Given the description of an element on the screen output the (x, y) to click on. 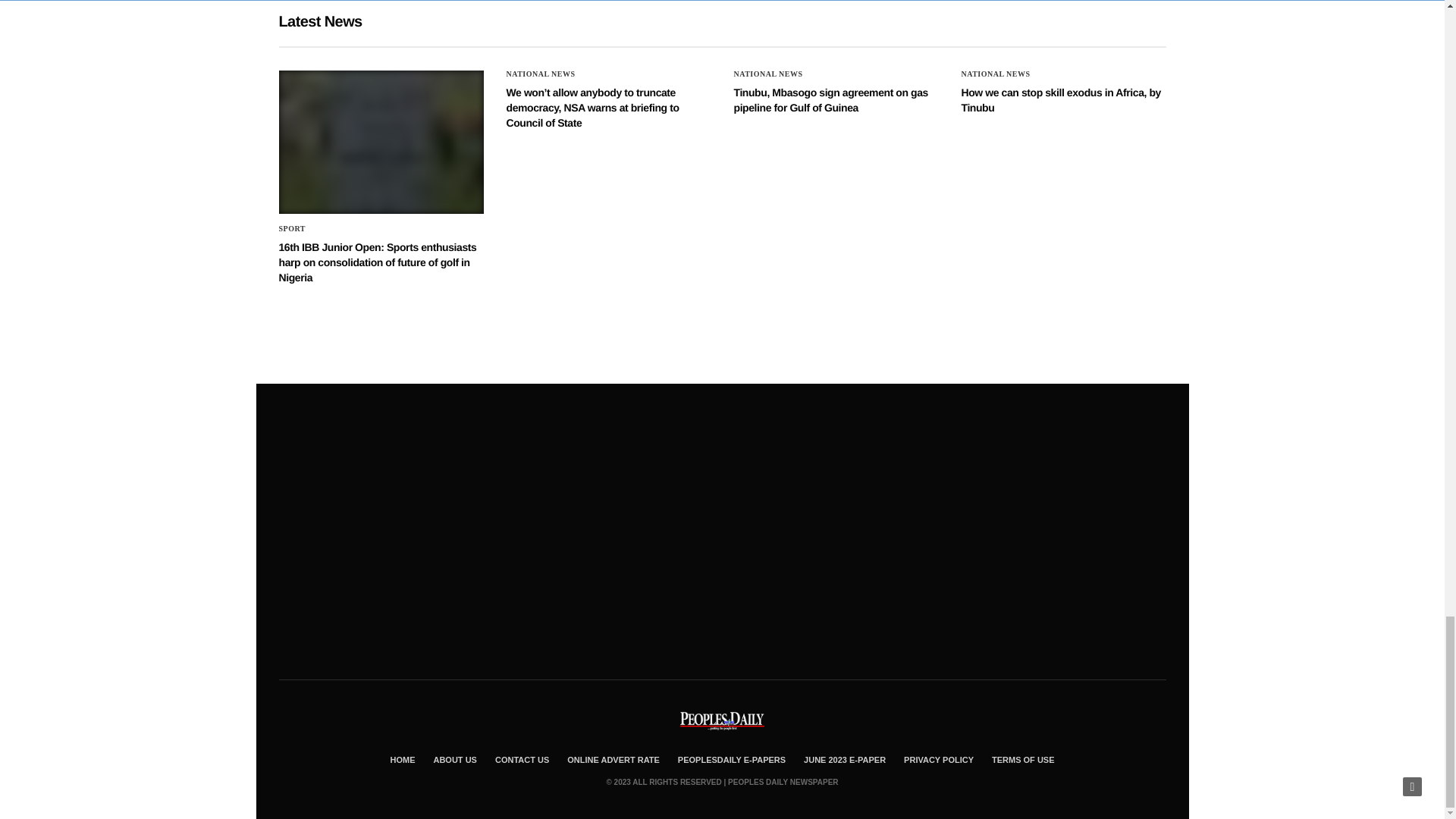
National News (995, 73)
SPORT (292, 228)
National News (768, 73)
How we can stop skill exodus in Africa, by Tinubu (1060, 99)
National News (540, 73)
